Given the description of an element on the screen output the (x, y) to click on. 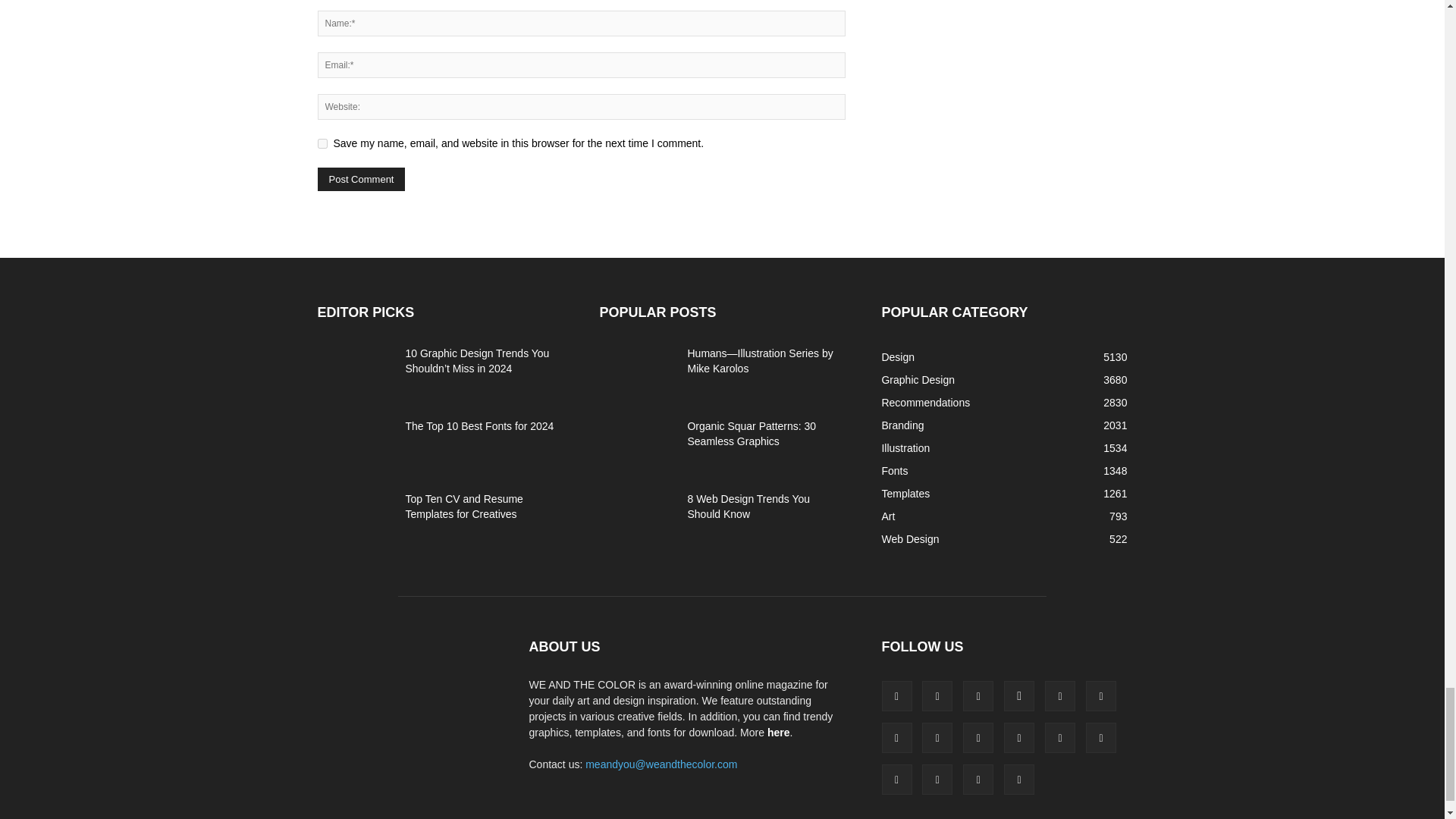
yes (321, 143)
Post Comment (360, 178)
